Given the description of an element on the screen output the (x, y) to click on. 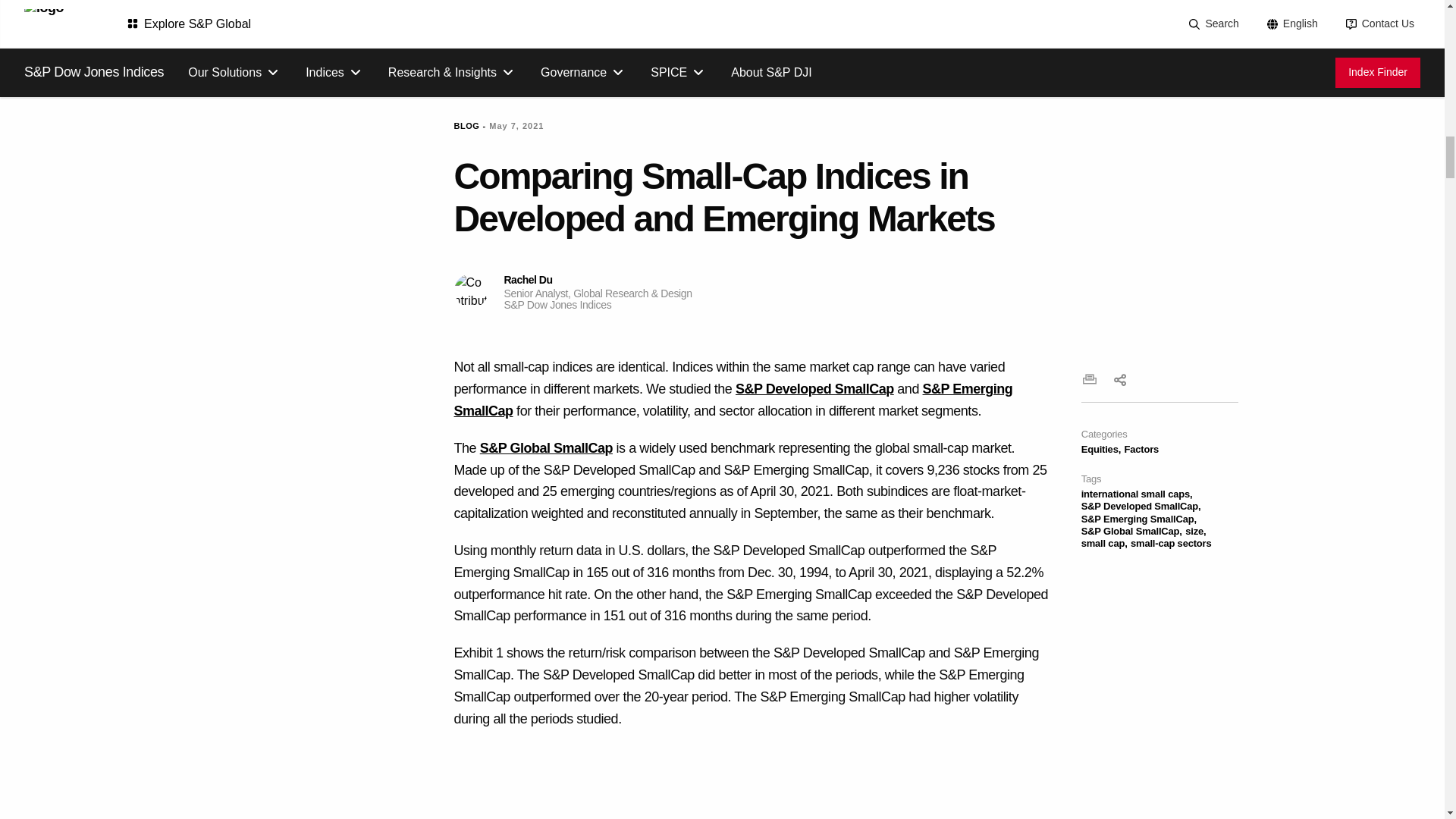
View all posts in Equities (1101, 449)
View all posts in Factors (1141, 449)
Rachel Du (469, 290)
